Given the description of an element on the screen output the (x, y) to click on. 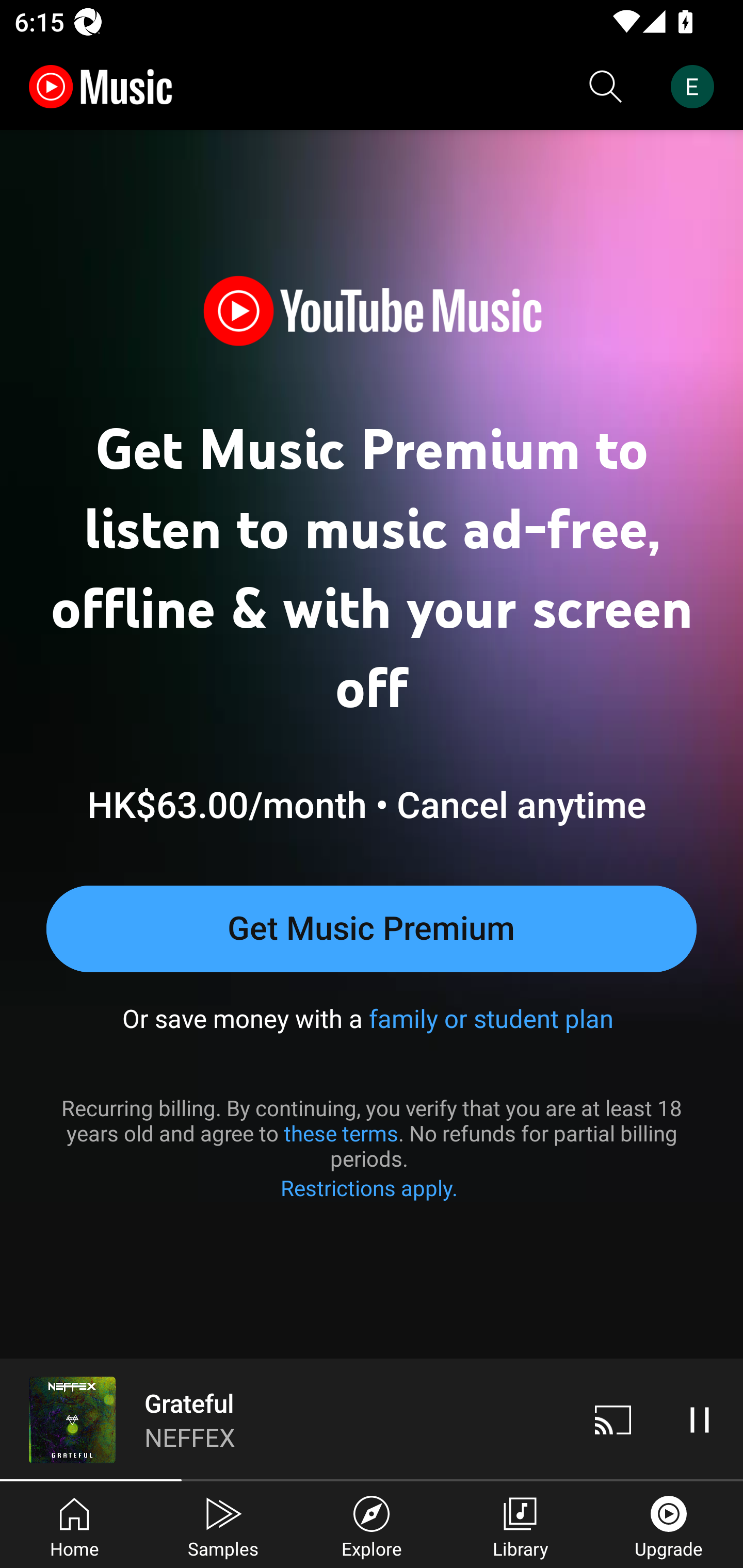
Search (605, 86)
Account (696, 86)
Get Music Premium (371, 928)
Grateful NEFFEX (284, 1419)
Cast. Disconnected (612, 1419)
Pause video (699, 1419)
Home (74, 1524)
Samples (222, 1524)
Explore (371, 1524)
Library (519, 1524)
Upgrade (668, 1524)
